Given the description of an element on the screen output the (x, y) to click on. 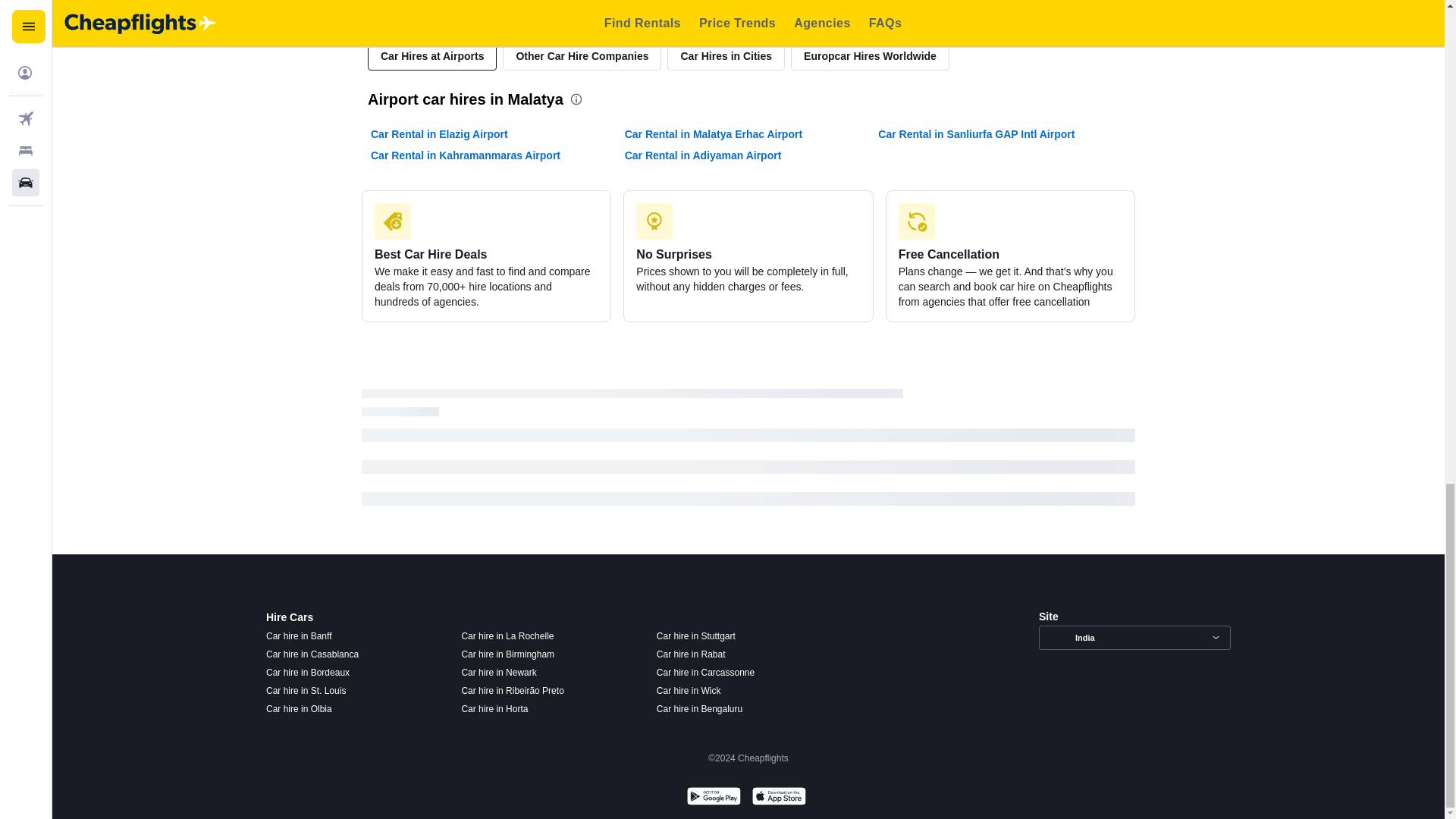
Car Hires at Airports (432, 55)
Other Car Hire Companies (581, 55)
Car Rental in Sanliurfa GAP Intl Airport (975, 133)
Download on the App Store (778, 797)
Get it on Google Play (713, 797)
Car Hires in Cities (725, 55)
Car Rental in Adiyaman Airport (702, 155)
Europcar Hires Worldwide (869, 55)
Car Rental in Kahramanmaras Airport (465, 155)
Car Rental in Elazig Airport (439, 133)
